Given the description of an element on the screen output the (x, y) to click on. 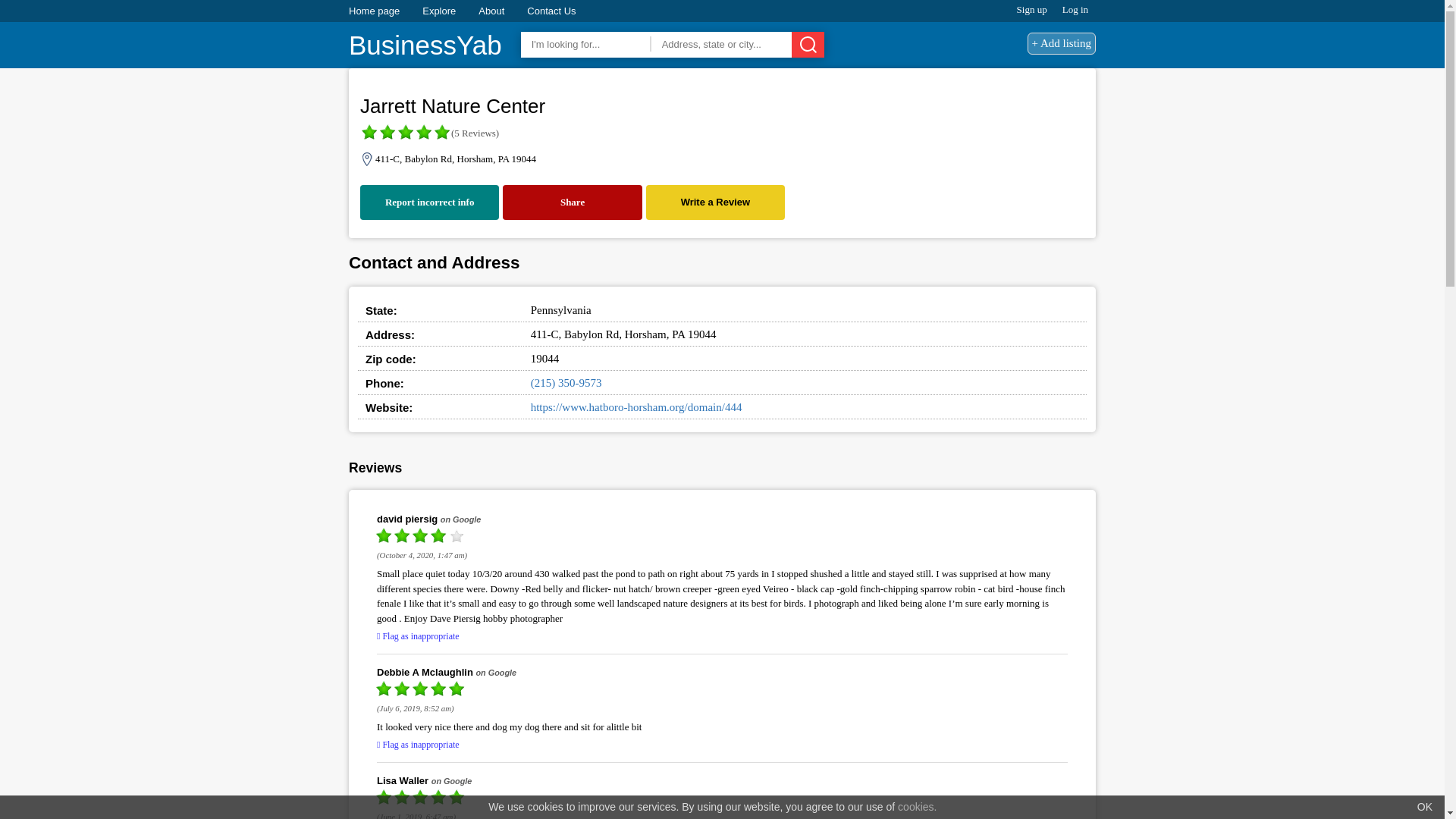
Home page (373, 10)
BusinessYab (425, 46)
Contact Us (551, 10)
About (491, 10)
Explore (438, 10)
Report incorrect info (429, 202)
